Given the description of an element on the screen output the (x, y) to click on. 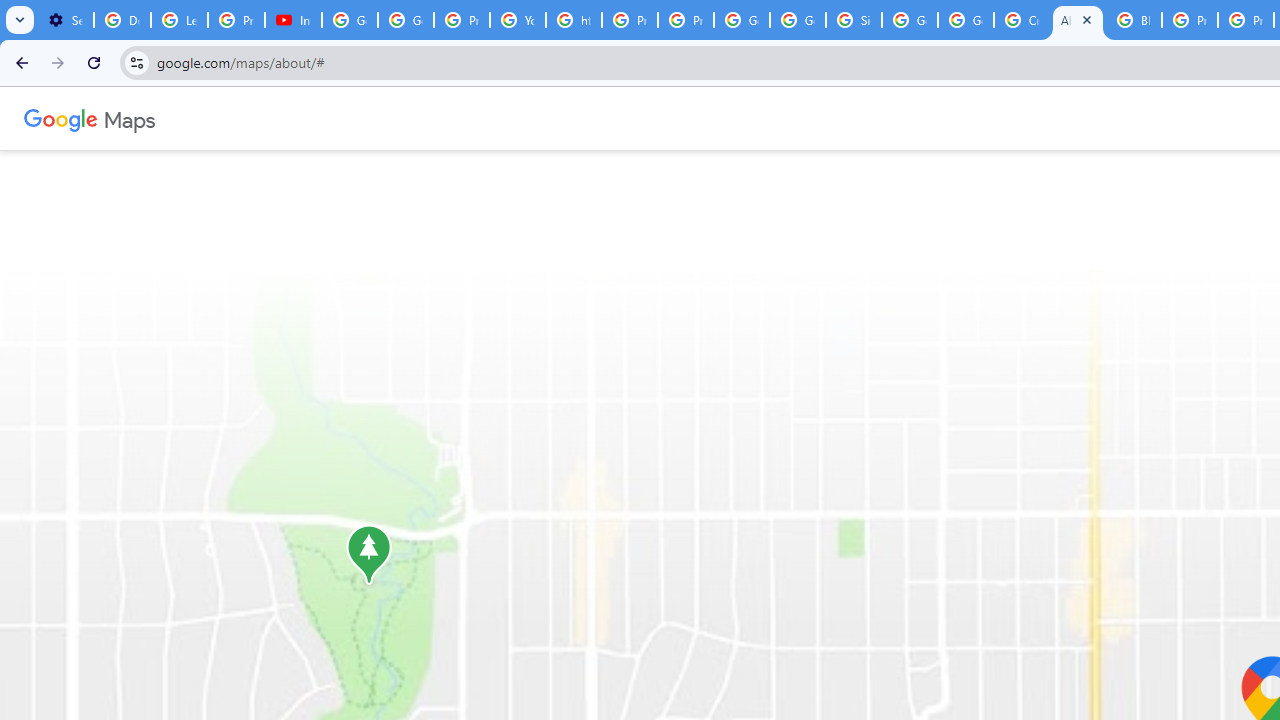
Create your Google Account (1021, 20)
Blogger Policies and Guidelines - Transparency Center (1133, 20)
Maps (129, 118)
Skip to Content (264, 115)
Sign in - Google Accounts (853, 20)
Google Account Help (349, 20)
Settings - Customize profile (65, 20)
